Given the description of an element on the screen output the (x, y) to click on. 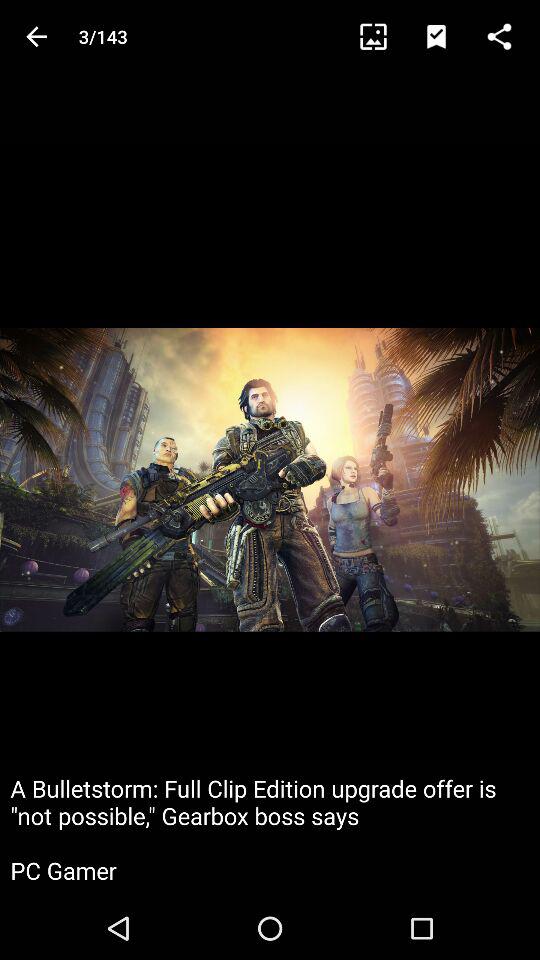
choose a bulletstorm full item (270, 828)
